Given the description of an element on the screen output the (x, y) to click on. 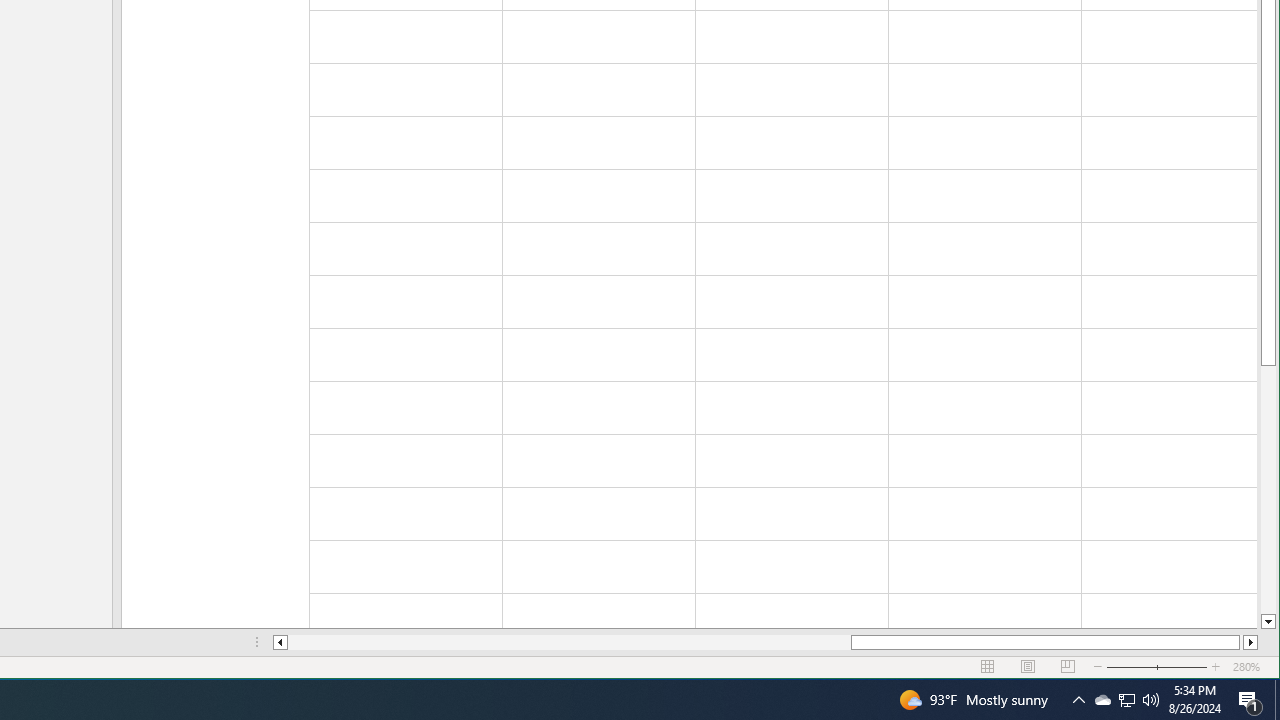
Page left (569, 642)
Class: NetUIScrollBar (765, 642)
Column left (1126, 699)
Line down (279, 642)
